Given the description of an element on the screen output the (x, y) to click on. 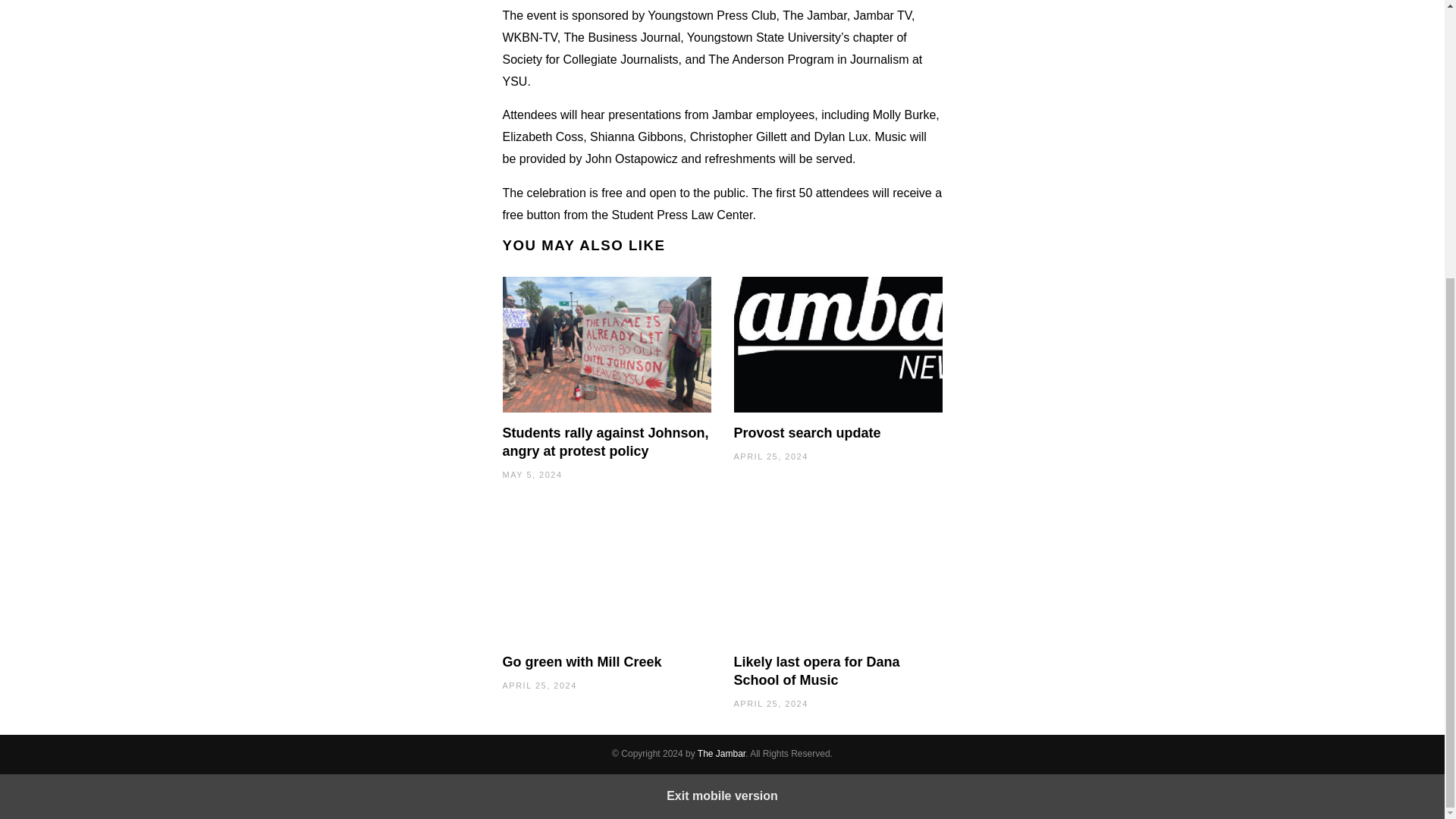
Likely last opera for Dana School of Music (816, 670)
Provost search update (806, 432)
Go green with Mill Creek (581, 661)
The Jambar (721, 753)
Students rally against Johnson, angry at protest policy (604, 441)
